Given the description of an element on the screen output the (x, y) to click on. 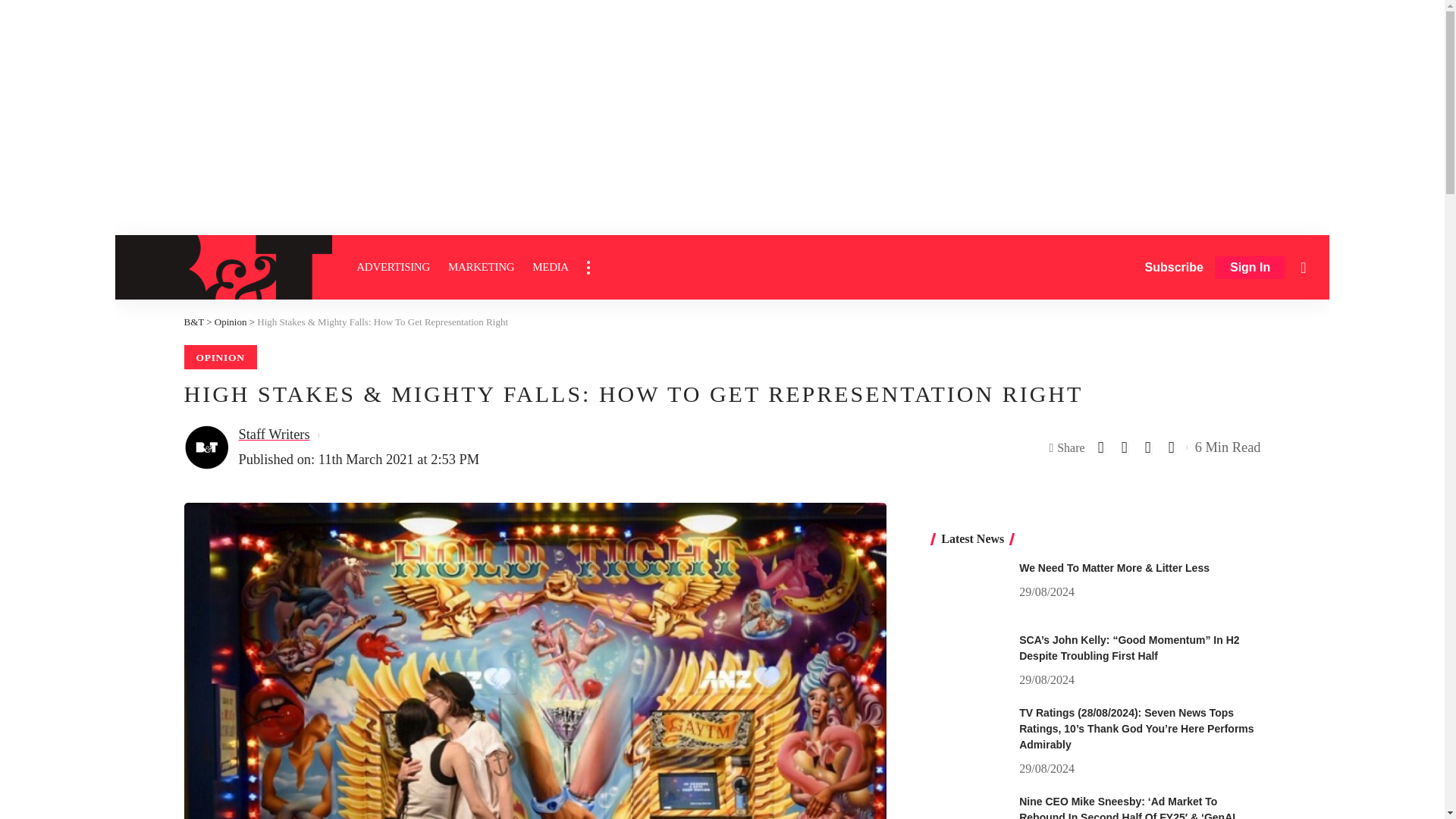
Subscribe (1174, 267)
ADVERTISING (393, 267)
Go to the Opinion Category archives. (230, 321)
Sign In (1249, 267)
MARKETING (480, 267)
